Given the description of an element on the screen output the (x, y) to click on. 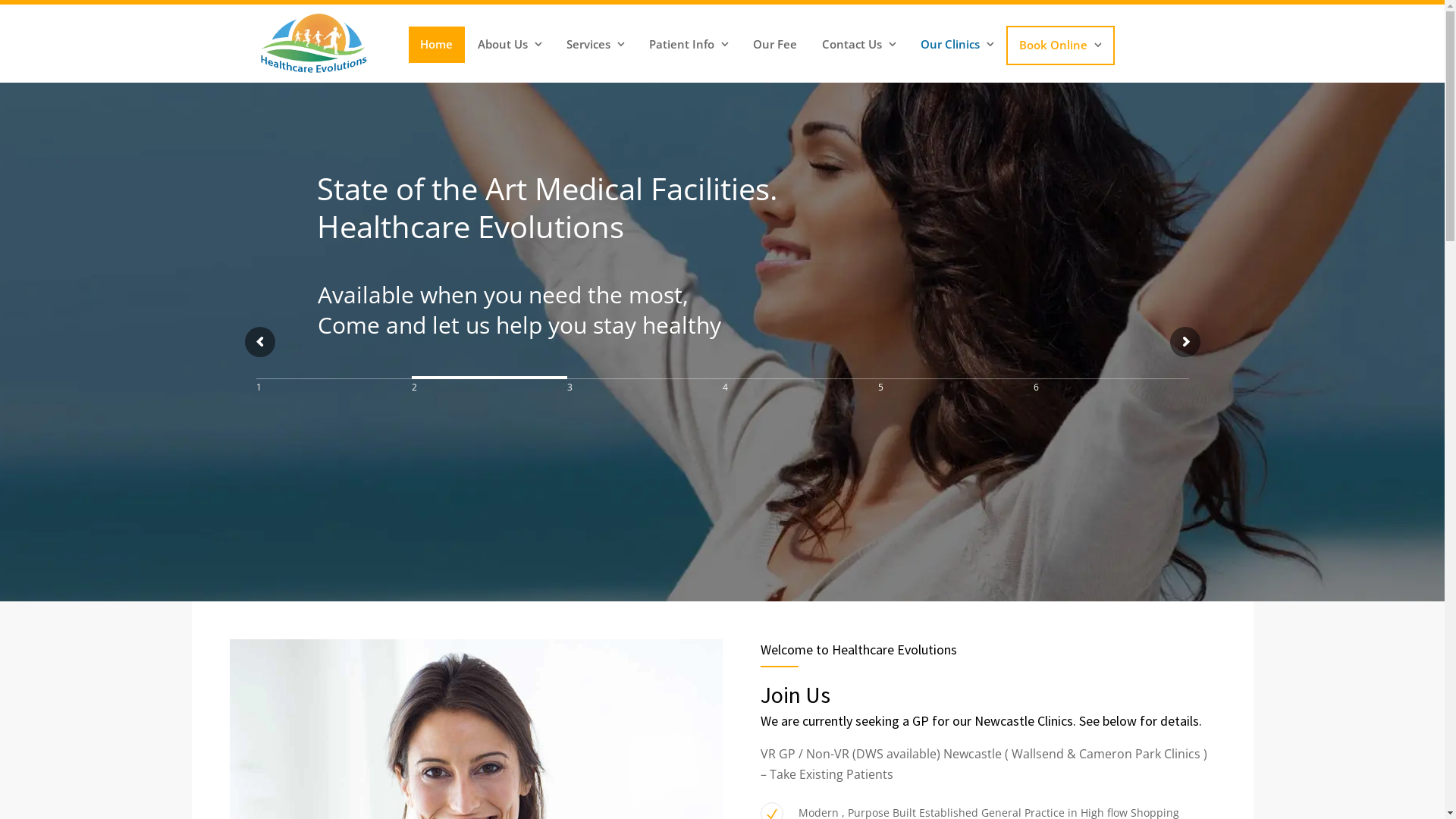
Our Clinics Element type: text (957, 44)
1 Element type: text (333, 393)
Patient Info Element type: text (688, 44)
Our Fee Element type: text (774, 44)
Home Element type: text (436, 44)
Services Element type: text (594, 44)
Book Online Element type: text (1059, 45)
4 Element type: text (799, 393)
5 Element type: text (955, 393)
Contact Us Element type: text (858, 44)
About Us Element type: text (509, 44)
2 Element type: text (488, 393)
3 Element type: text (644, 393)
6 Element type: text (1110, 393)
